Given the description of an element on the screen output the (x, y) to click on. 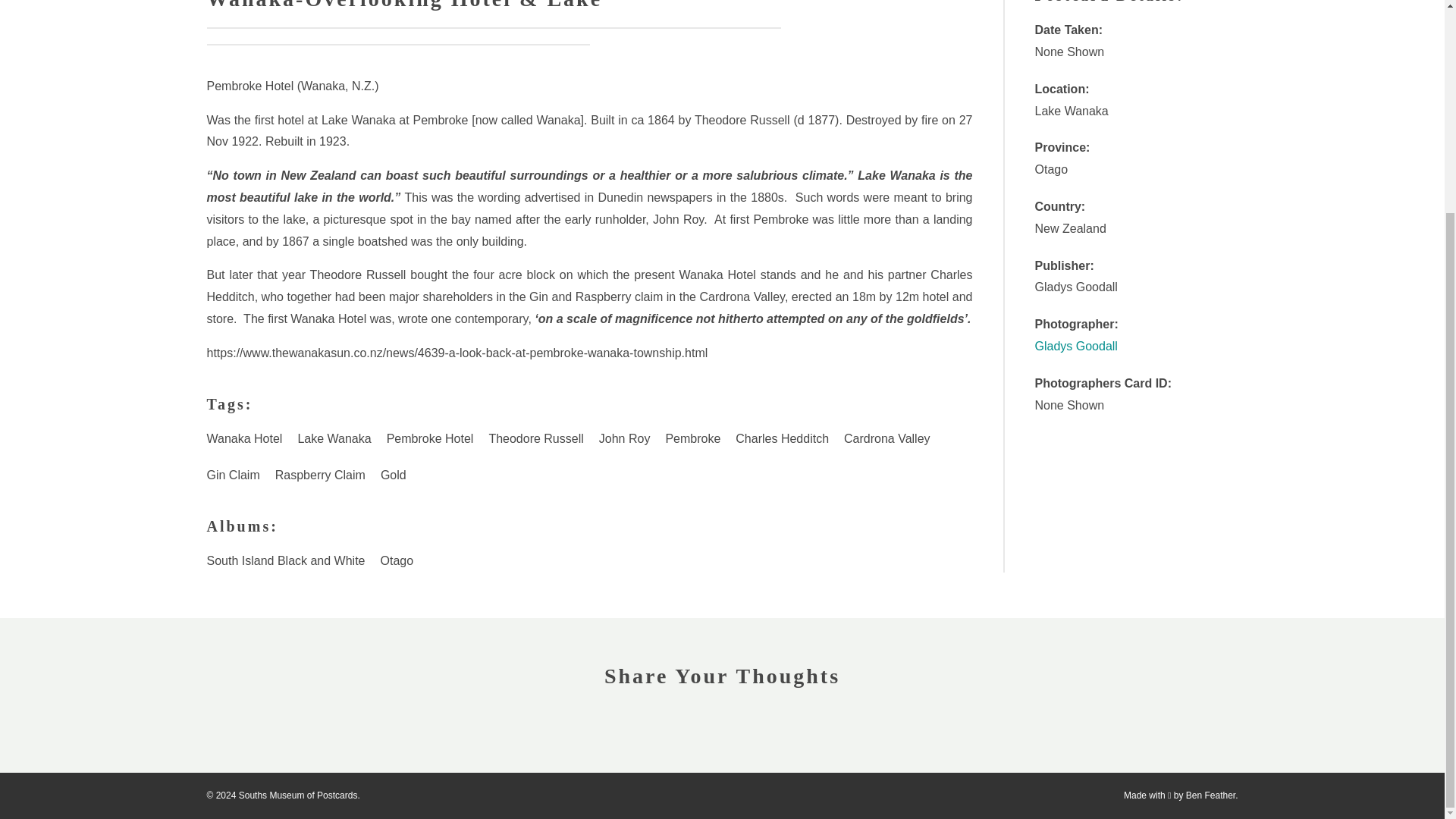
John Roy (624, 438)
Wanaka Hotel (243, 438)
Gold (392, 475)
Raspberry Claim (319, 475)
South Island Black and White (285, 560)
Pembroke Hotel (429, 438)
Otago (397, 560)
Theodore Russell (535, 438)
Gladys Goodall (1074, 345)
Lake Wanaka (333, 438)
Pembroke (693, 438)
Cardrona Valley (886, 438)
Gin Claim (232, 475)
Charles Hedditch (781, 438)
